Given the description of an element on the screen output the (x, y) to click on. 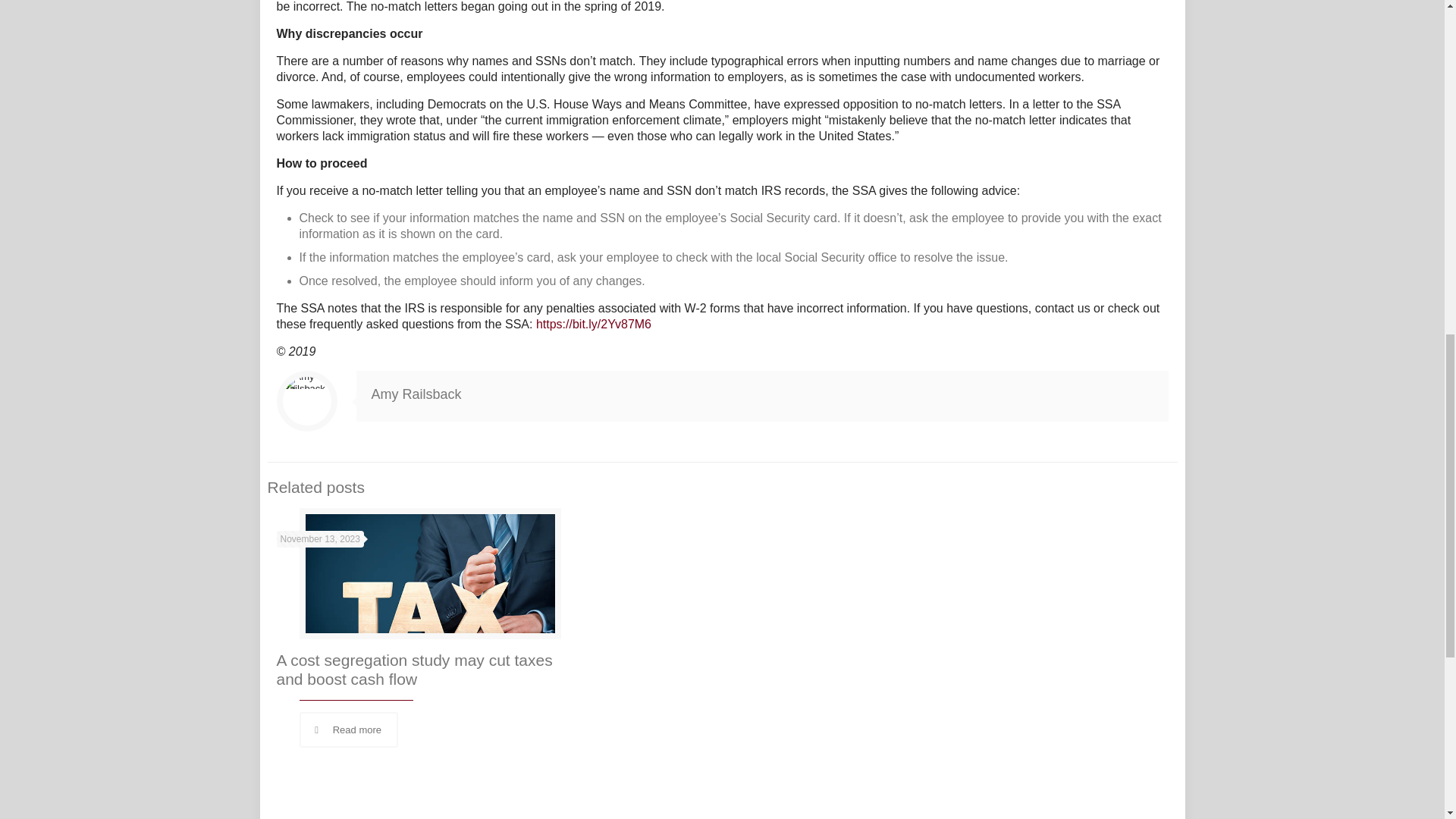
file.jpg (429, 579)
Amy Railsback (416, 394)
